Given the description of an element on the screen output the (x, y) to click on. 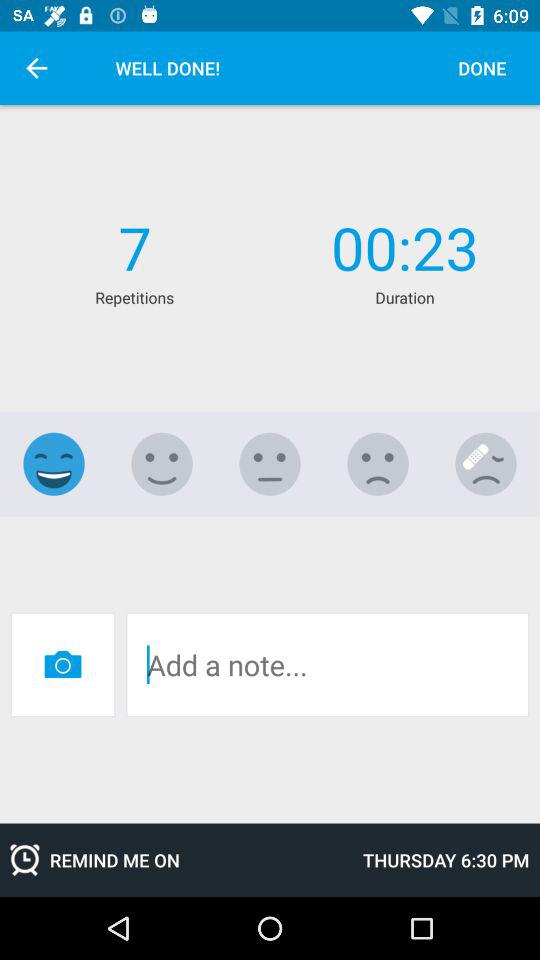
flip to the remind me on (176, 859)
